Given the description of an element on the screen output the (x, y) to click on. 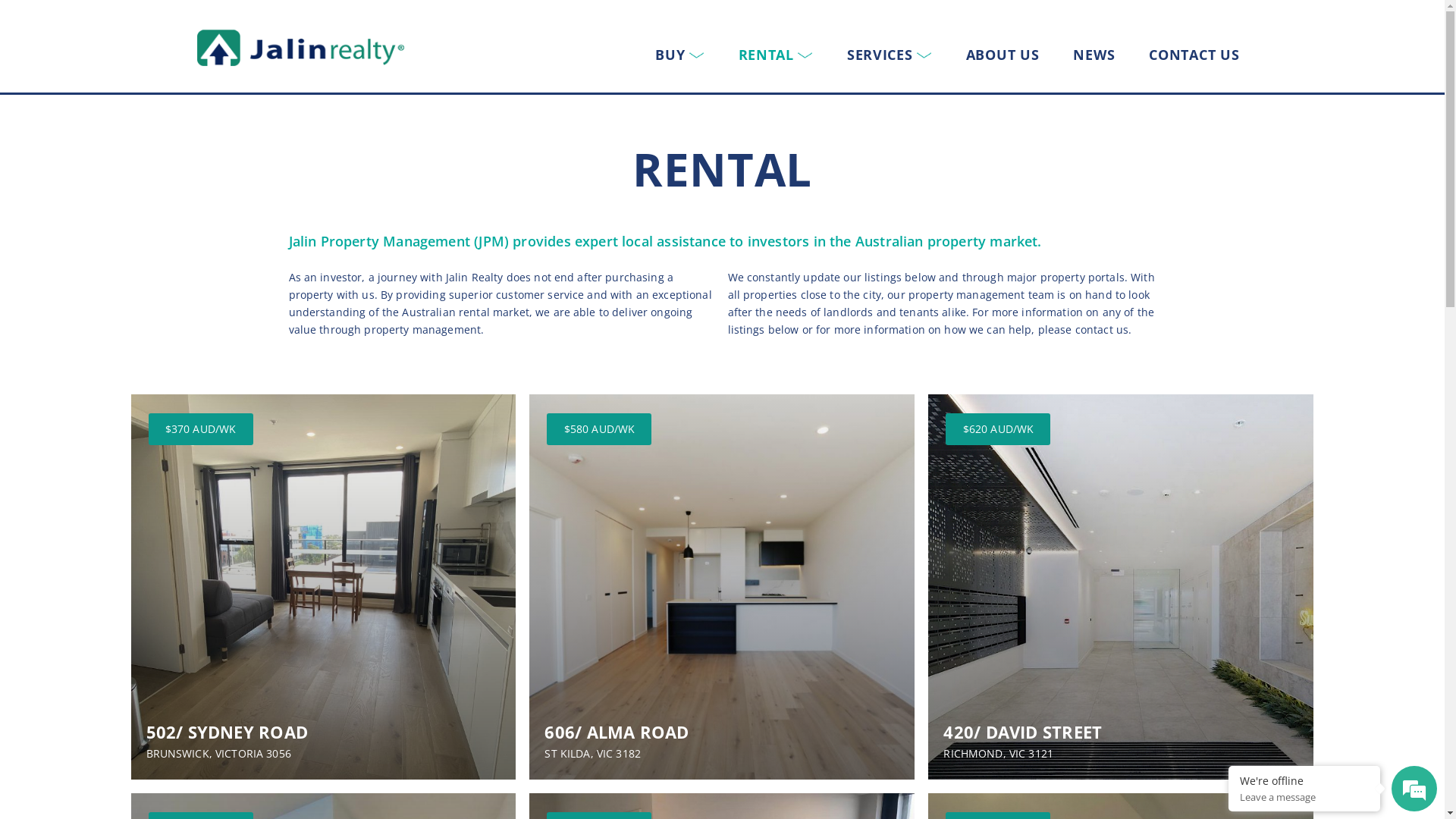
NEWS Element type: text (1093, 54)
CONTACT US Element type: text (1193, 54)
RENTAL Element type: text (775, 54)
$620 AUD/WK
420/ DAVID STREET
RICHMOND, VIC 3121 Element type: text (1120, 586)
please contact us Element type: text (1083, 329)
$580 AUD/WK Element type: text (598, 429)
$580 AUD/WK
606/ ALMA ROAD
ST KILDA, VIC 3182 Element type: text (721, 586)
ABOUT US Element type: text (1002, 54)
SERVICES Element type: text (889, 54)
$370 AUD/WK
502/ SYDNEY ROAD
BRUNSWICK, VICTORIA 3056 Element type: text (322, 586)
BUY Element type: text (679, 54)
$370 AUD/WK Element type: text (200, 429)
$620 AUD/WK Element type: text (997, 429)
